Given the description of an element on the screen output the (x, y) to click on. 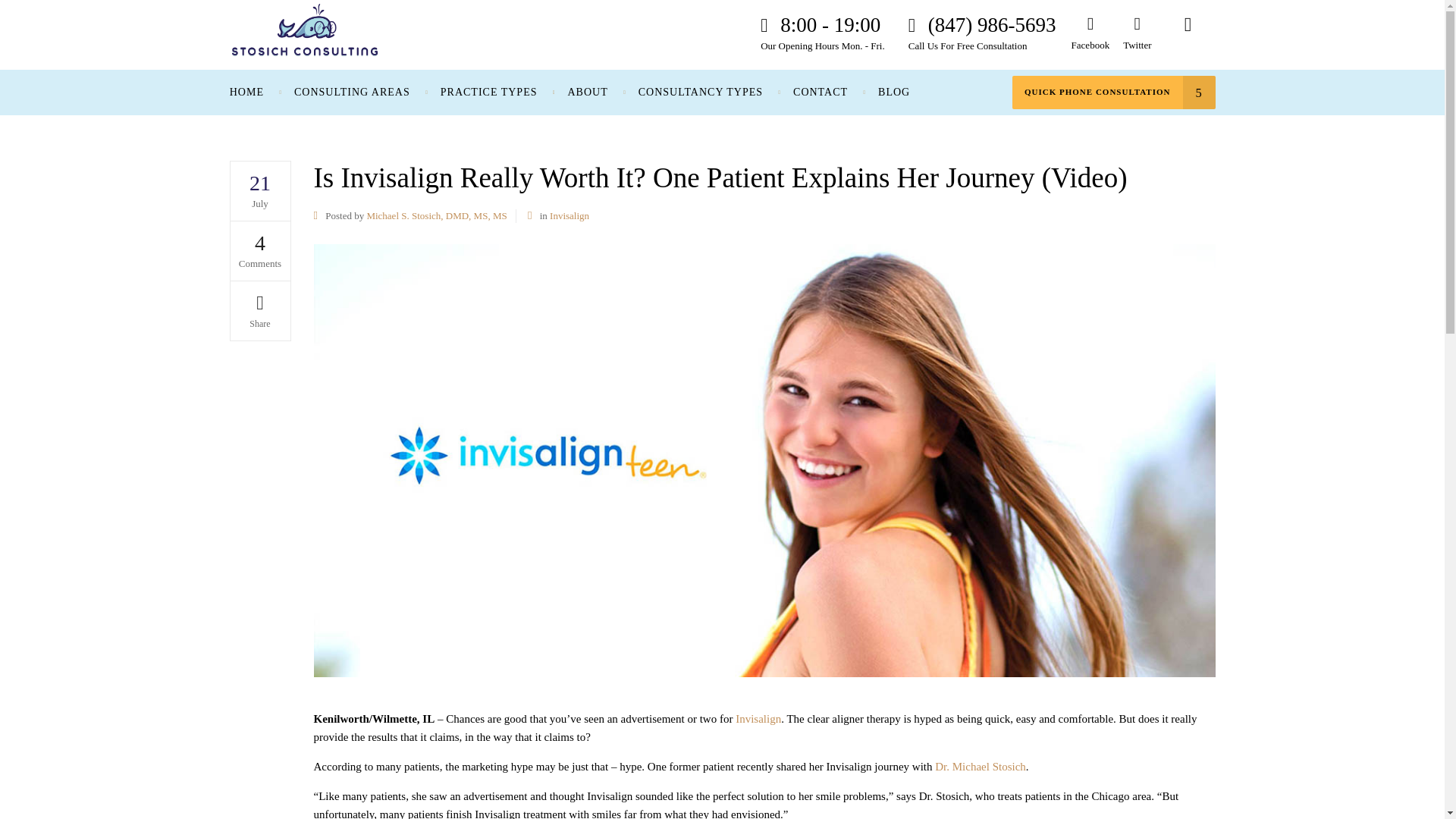
BLOG (893, 92)
ABOUT (587, 92)
QUICK PHONE CONSULTATION (1113, 92)
U (975, 414)
CONSULTANCY TYPES (700, 92)
HOME (254, 92)
Search (1186, 33)
CONSULTING AREAS (352, 92)
CONTACT (820, 92)
PRACTICE TYPES (489, 92)
